Given the description of an element on the screen output the (x, y) to click on. 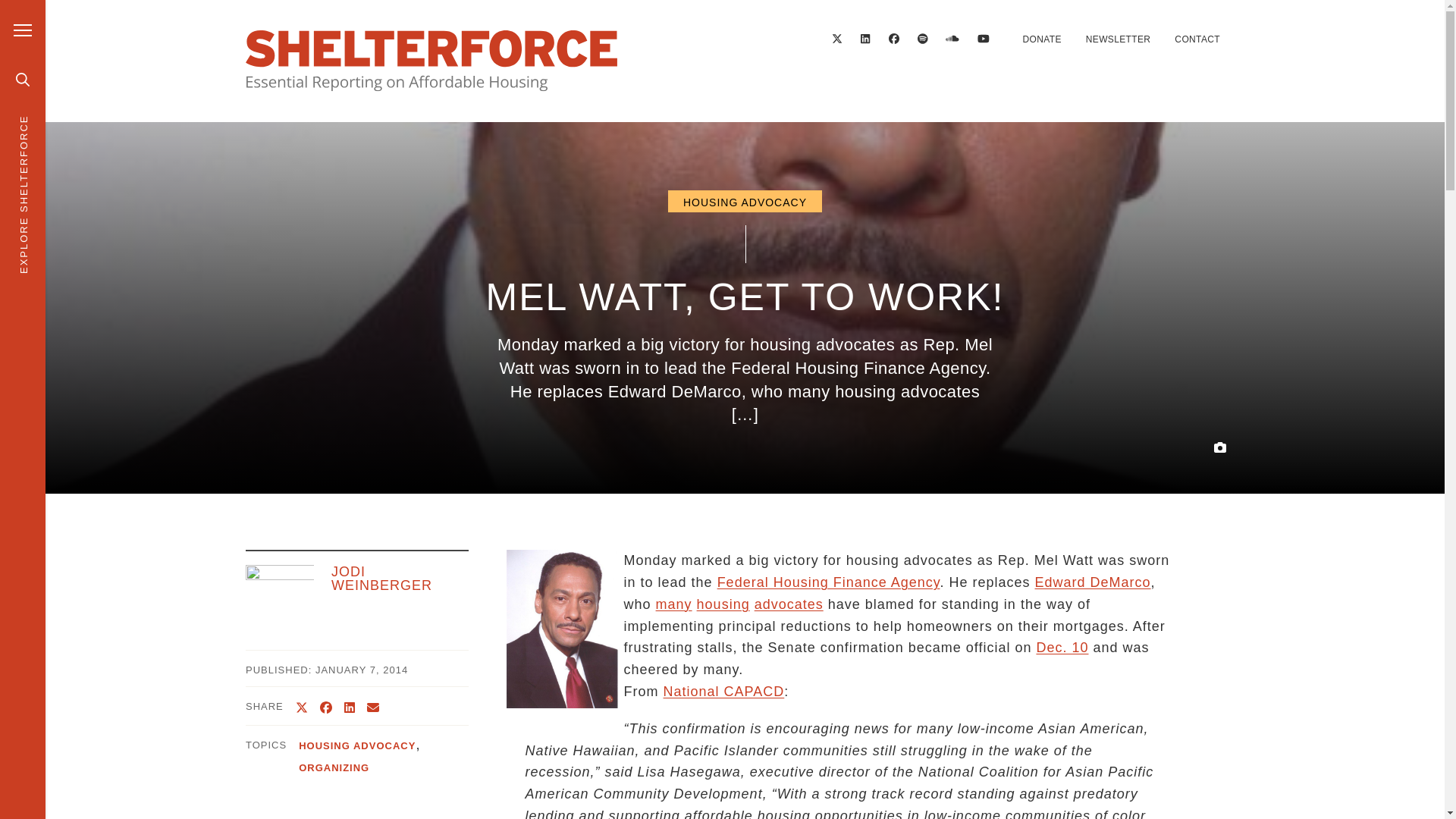
Share Via Facebook (325, 707)
Shelterforce (431, 60)
Spotify (922, 38)
Twitter (837, 38)
Facebook (893, 38)
Follow us on Facebook (893, 38)
Spotify (922, 38)
NEWSLETTER (1118, 39)
Twitter (836, 38)
DONATE (1041, 39)
Soundcloud (952, 38)
Share Via Twitter (301, 707)
Facebook (893, 38)
CONTACT (1197, 39)
Follow us on LinkedIn (865, 38)
